Given the description of an element on the screen output the (x, y) to click on. 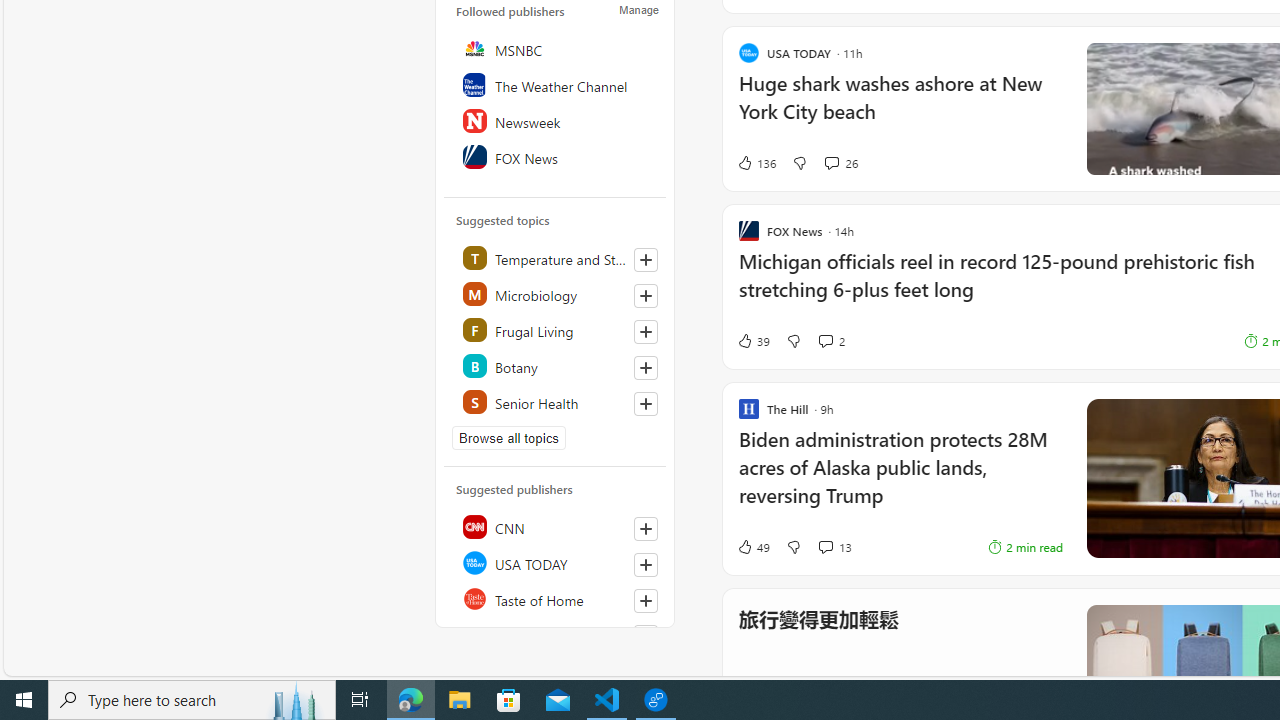
USA TODAY (556, 562)
Huge shark washes ashore at New York City beach (900, 107)
View comments 13 Comment (825, 547)
Taste of Home (556, 598)
View comments 26 Comment (831, 162)
NBC News (556, 634)
Follow this source (645, 636)
View comments 2 Comment (825, 340)
Manage (639, 9)
Follow this topic (645, 403)
Class: highlight (556, 401)
Follow this topic (645, 403)
FOX News (556, 156)
